Given the description of an element on the screen output the (x, y) to click on. 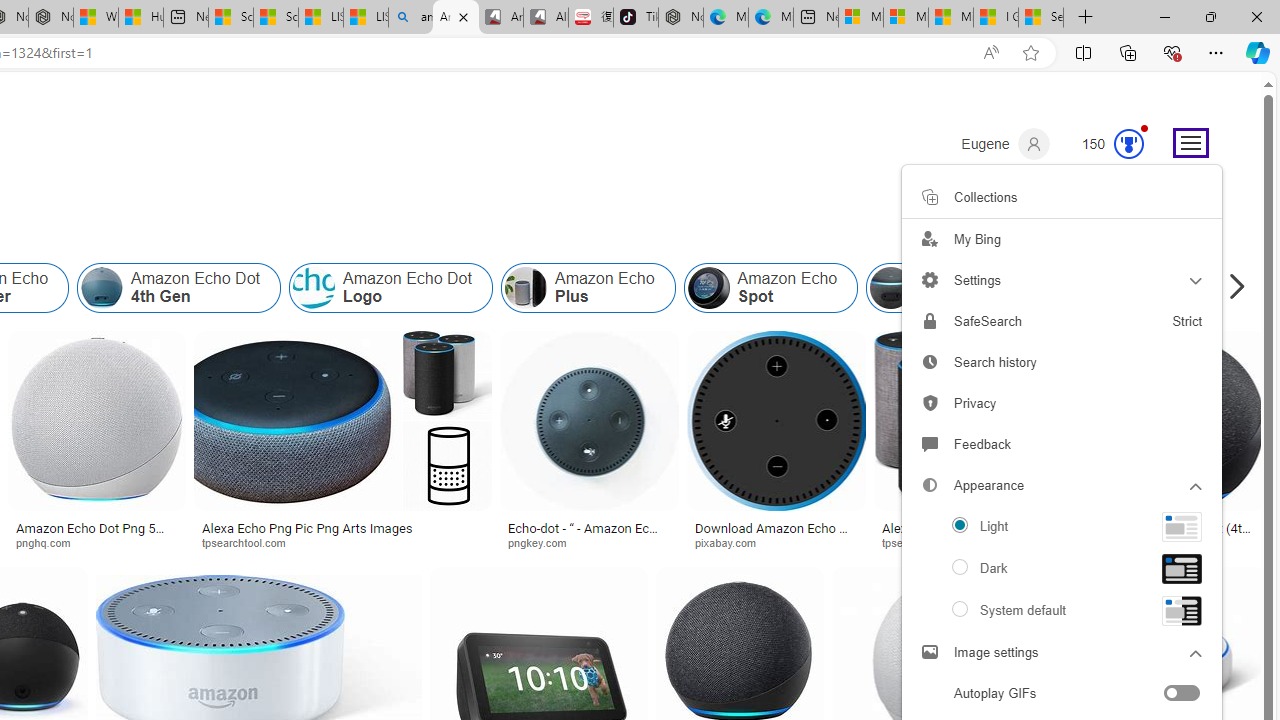
pngkey.com (589, 542)
Image result for Amazon Echo Dot PNG (1175, 421)
Appearance (1062, 485)
Privacy (1062, 403)
Class: medal-svg-animation (1129, 143)
pnghq.com (49, 541)
croma.com (1176, 542)
Amazon Echo Dot 3 (968, 287)
Amazon Echo Dot 4th Gen (179, 287)
